Given the description of an element on the screen output the (x, y) to click on. 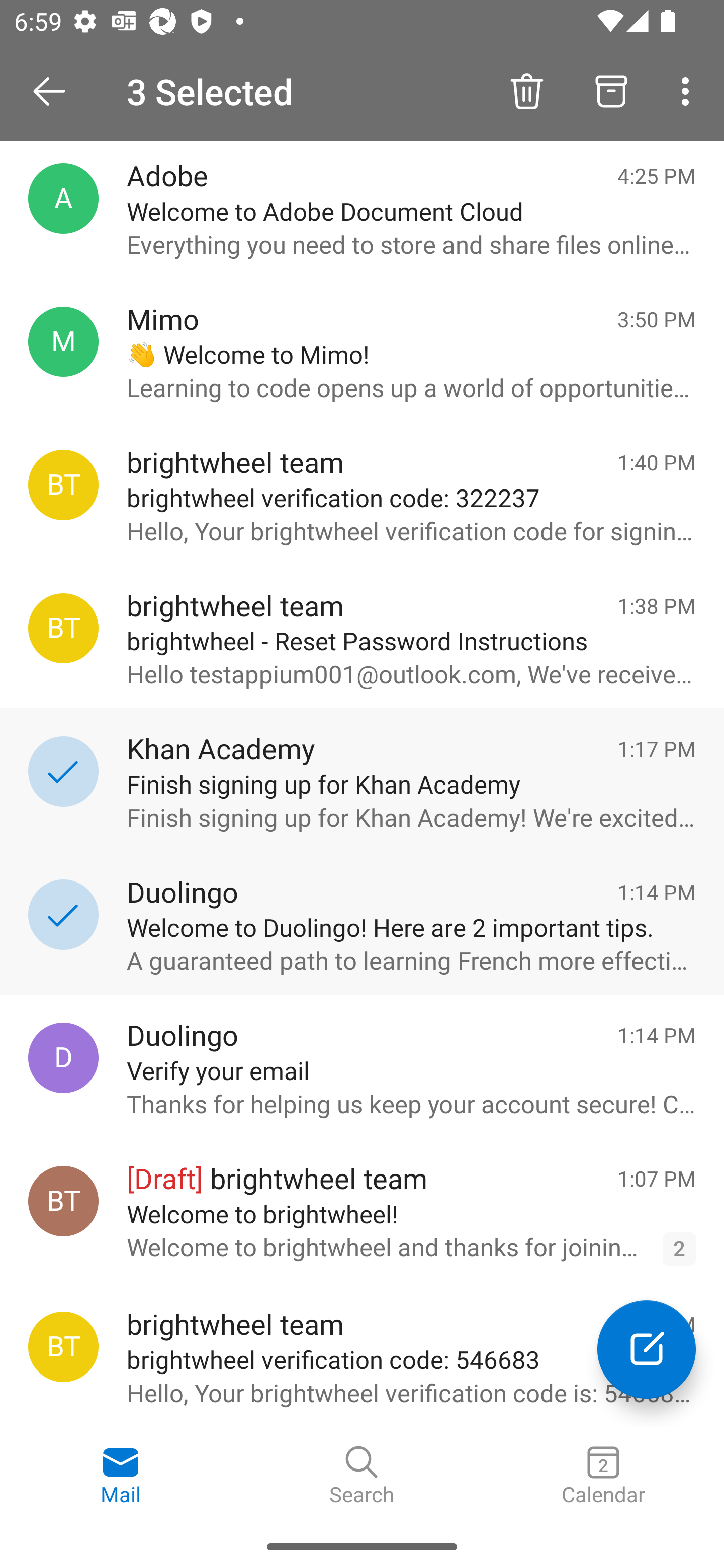
Delete (526, 90)
Archive (611, 90)
More options (688, 90)
Open Navigation Drawer (55, 91)
Adobe, message@adobe.com (63, 198)
Mimo, support@getmimo.com (63, 341)
brightwheel team, recovery@mybrightwheel.com (63, 485)
brightwheel team, recovery@mybrightwheel.com (63, 627)
Duolingo, hello@duolingo.com (63, 1057)
brightwheel team, welcome@mybrightwheel.com (63, 1200)
Compose (646, 1348)
brightwheel team, recovery@mybrightwheel.com (63, 1346)
Search (361, 1475)
Calendar (603, 1475)
